Given the description of an element on the screen output the (x, y) to click on. 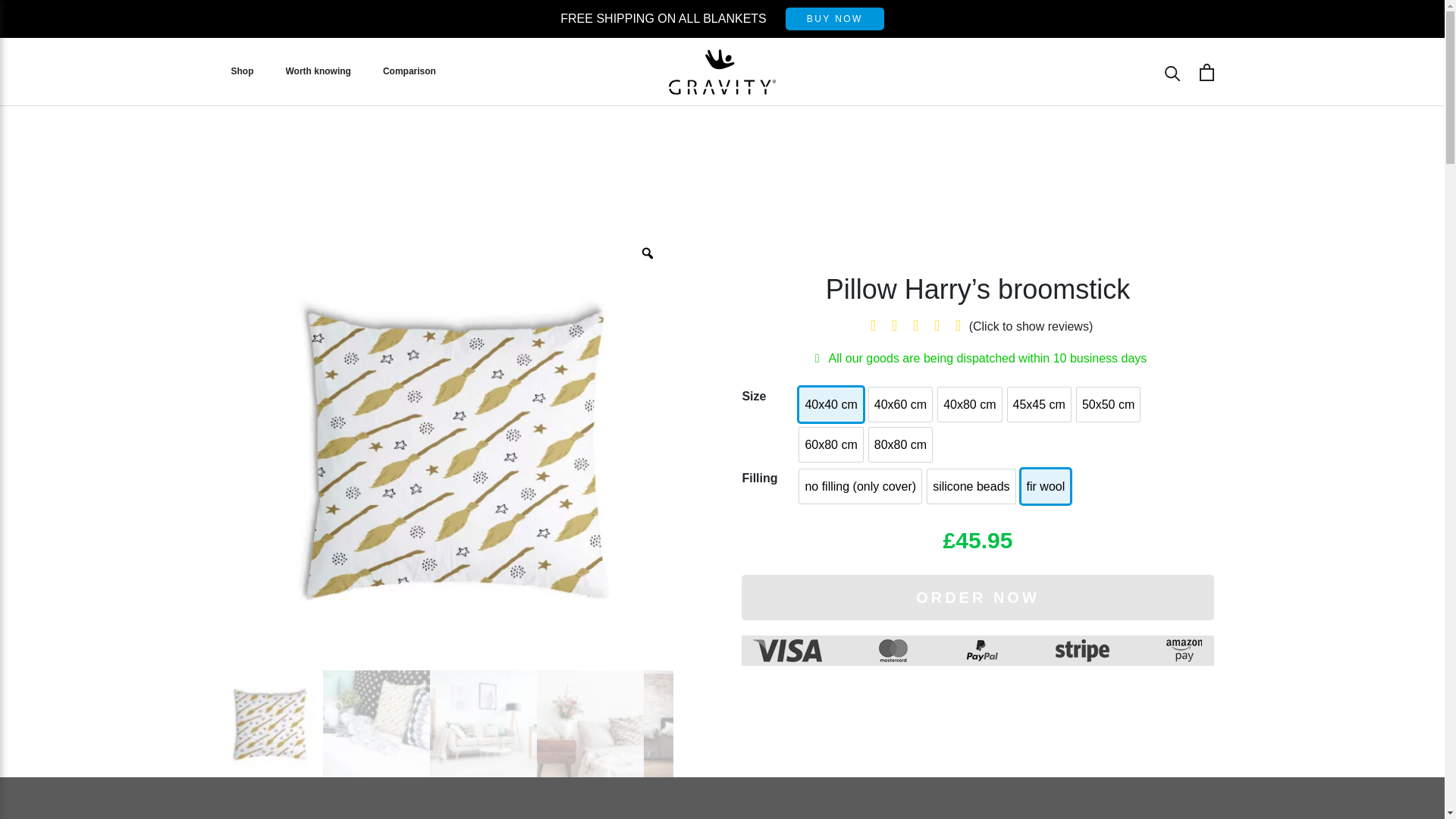
Expand the menu (317, 71)
Worth knowing (317, 71)
Go to homepage (722, 70)
BUY NOW (834, 18)
